Given the description of an element on the screen output the (x, y) to click on. 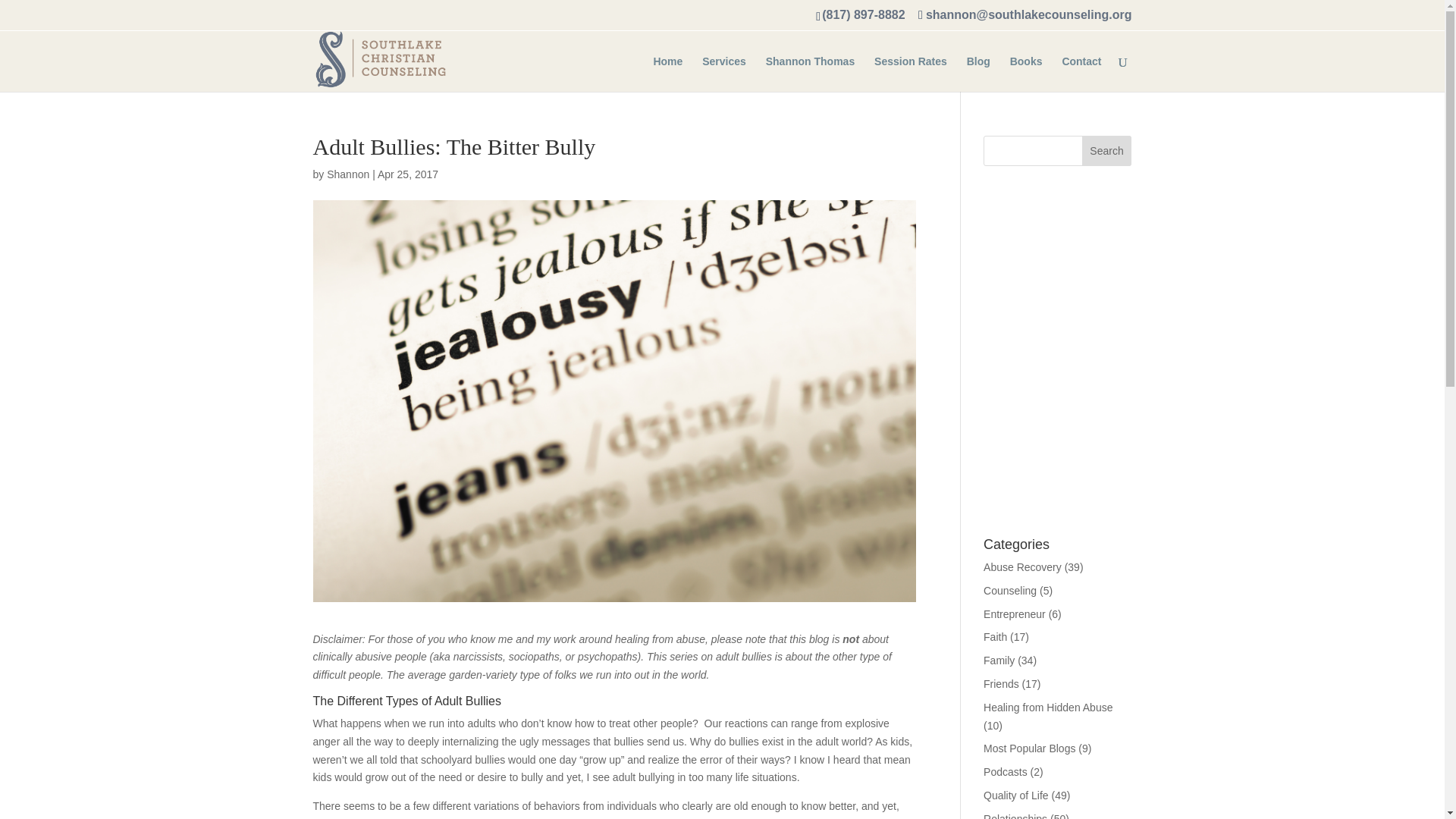
Shannon (347, 174)
Most Popular Blogs (1029, 748)
Search (1106, 150)
Friends (1001, 684)
Contact (1080, 73)
Relationships (1015, 816)
Services (723, 73)
Posts by Shannon (347, 174)
Healing from Hidden Abuse (1048, 707)
Podcasts (1005, 771)
Shannon Thomas (809, 73)
Family (999, 660)
Abuse Recovery (1022, 567)
Counseling (1010, 590)
Entrepreneur (1014, 613)
